Given the description of an element on the screen output the (x, y) to click on. 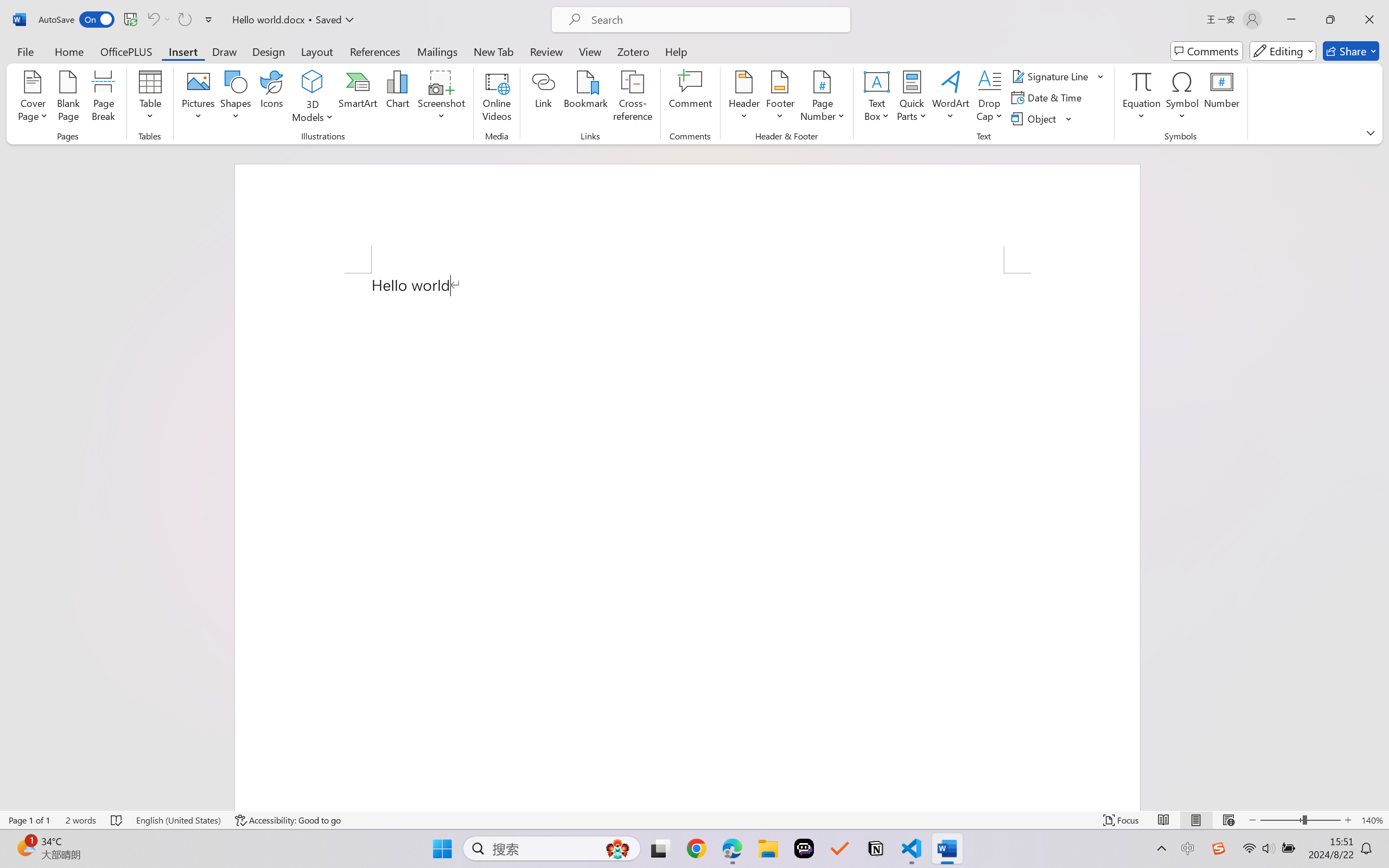
Spelling and Grammar Check No Errors (117, 819)
Page Break (103, 97)
Focus  (1121, 819)
Page Number Page 1 of 1 (29, 819)
Language English (United States) (178, 819)
Cross-reference... (632, 97)
Can't Undo (152, 19)
AutomationID: DynamicSearchBoxGleamImage (617, 848)
SmartArt... (358, 97)
Ribbon Display Options (1370, 132)
Zoom 140% (1372, 819)
Comments (1206, 50)
